Given the description of an element on the screen output the (x, y) to click on. 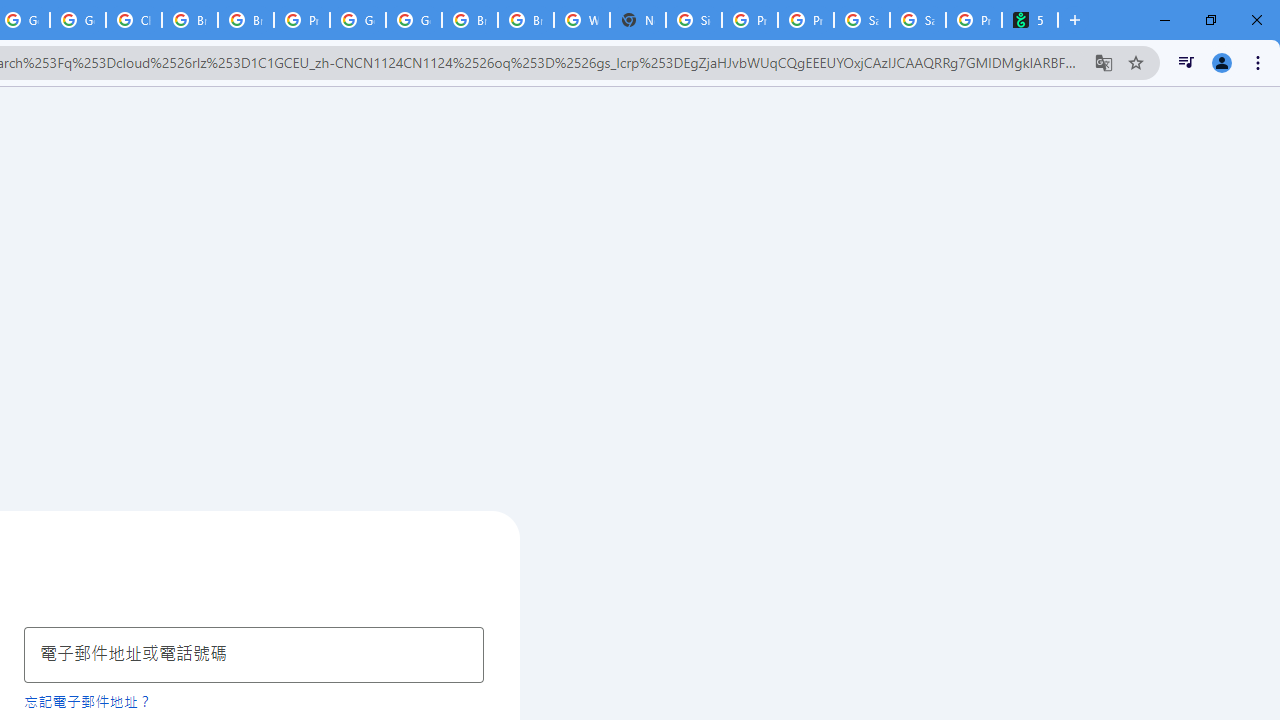
Google Cloud Platform (413, 20)
Google Cloud Platform (358, 20)
Control your music, videos, and more (1185, 62)
Translate this page (1103, 62)
Sign in - Google Accounts (693, 20)
